Given the description of an element on the screen output the (x, y) to click on. 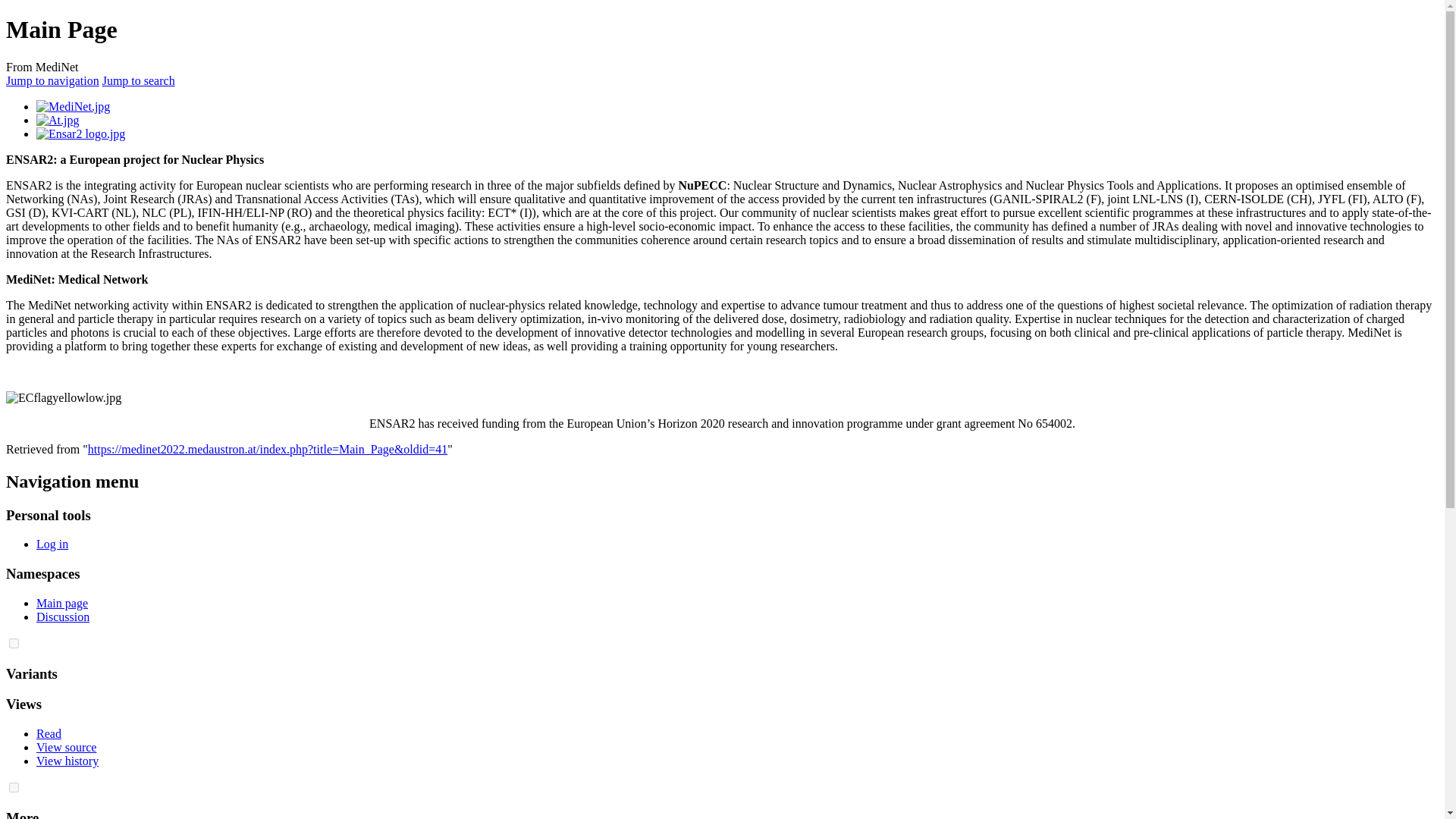
Main page (61, 603)
on (13, 787)
Jump to search (137, 80)
ECflagyellowlow.jpg (62, 397)
Jump to navigation (52, 80)
on (13, 643)
View history (67, 760)
Read (48, 733)
Discussion (62, 616)
View source (66, 747)
Log in (52, 543)
